Given the description of an element on the screen output the (x, y) to click on. 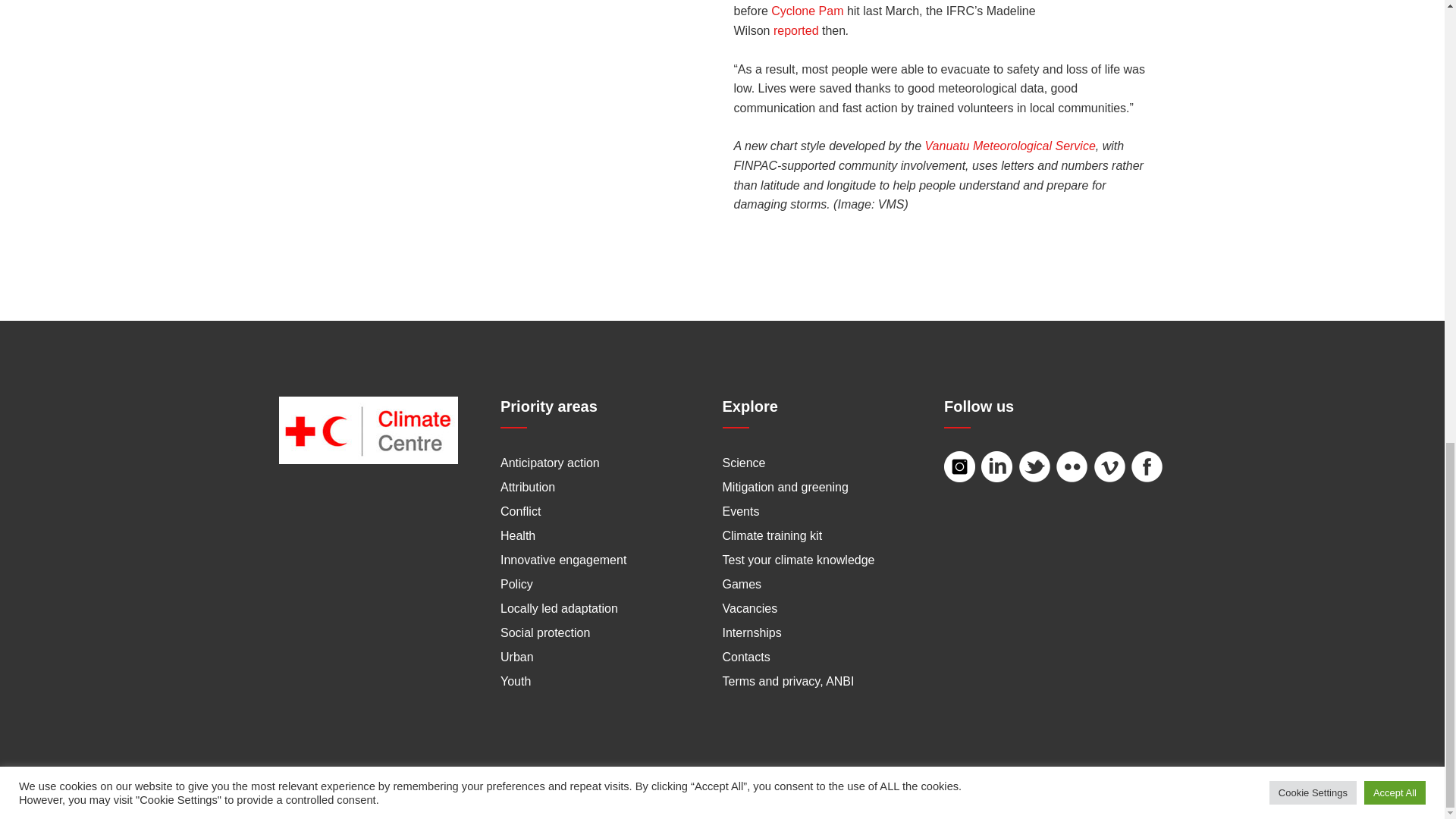
Attribution (527, 486)
Science (743, 462)
Social protection (544, 632)
Policy (516, 584)
Mitigation and greening (784, 486)
Vanuatu Meteorological Service (1010, 145)
Youth (515, 680)
Cyclone Pam (807, 10)
Urban (517, 656)
Conflict (520, 511)
reported (795, 30)
Innovative engagement (563, 559)
Anticipatory action (549, 462)
Health (517, 535)
Locally led adaptation (558, 608)
